Given the description of an element on the screen output the (x, y) to click on. 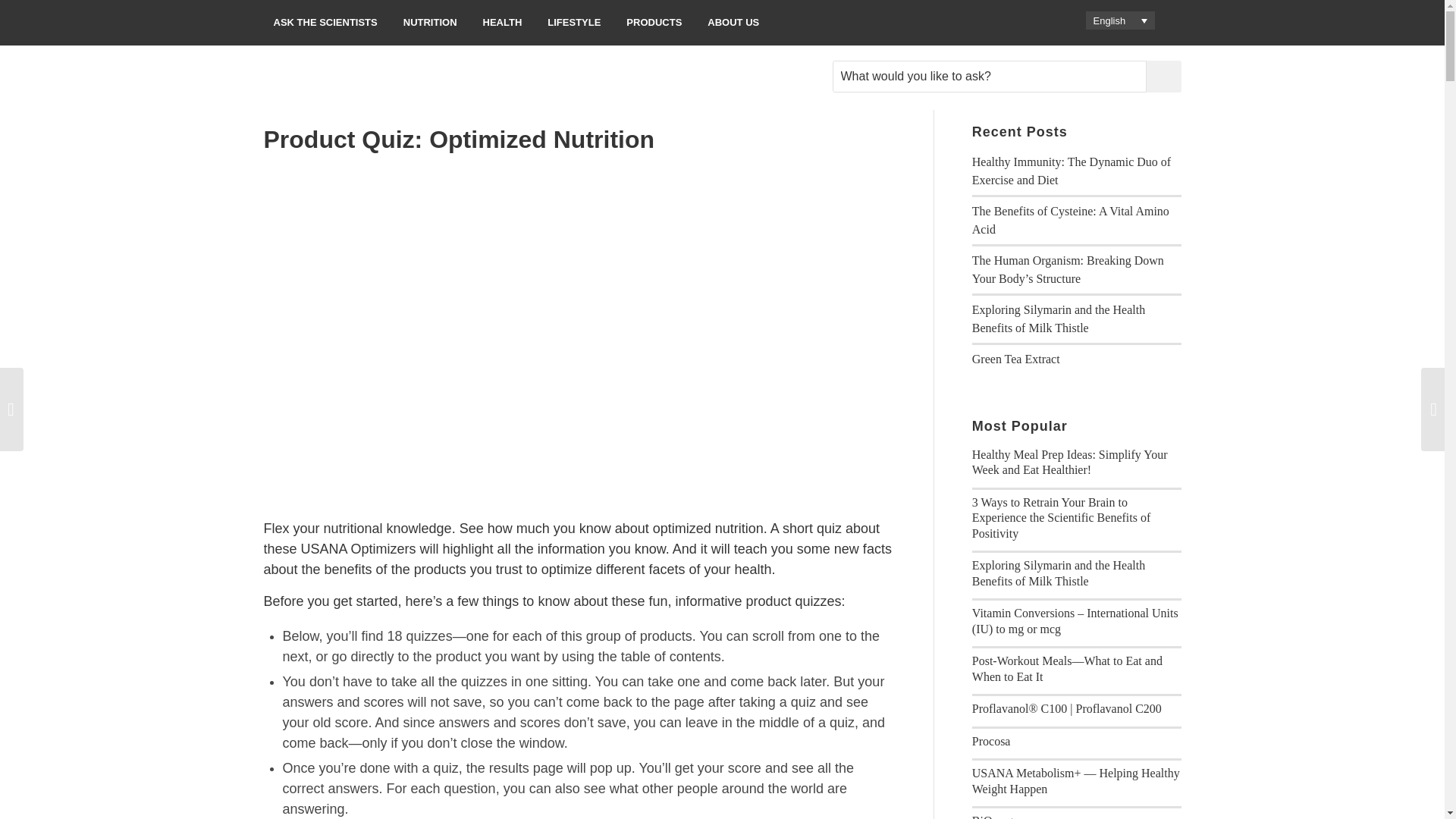
LIFESTYLE (573, 22)
PRODUCTS (653, 22)
HEALTH (502, 22)
Healthy Immunity: The Dynamic Duo of Exercise and Diet (1071, 170)
NUTRITION (430, 22)
ABOUT US (732, 22)
ASK THE SCIENTISTS (325, 22)
English (1120, 20)
